Given the description of an element on the screen output the (x, y) to click on. 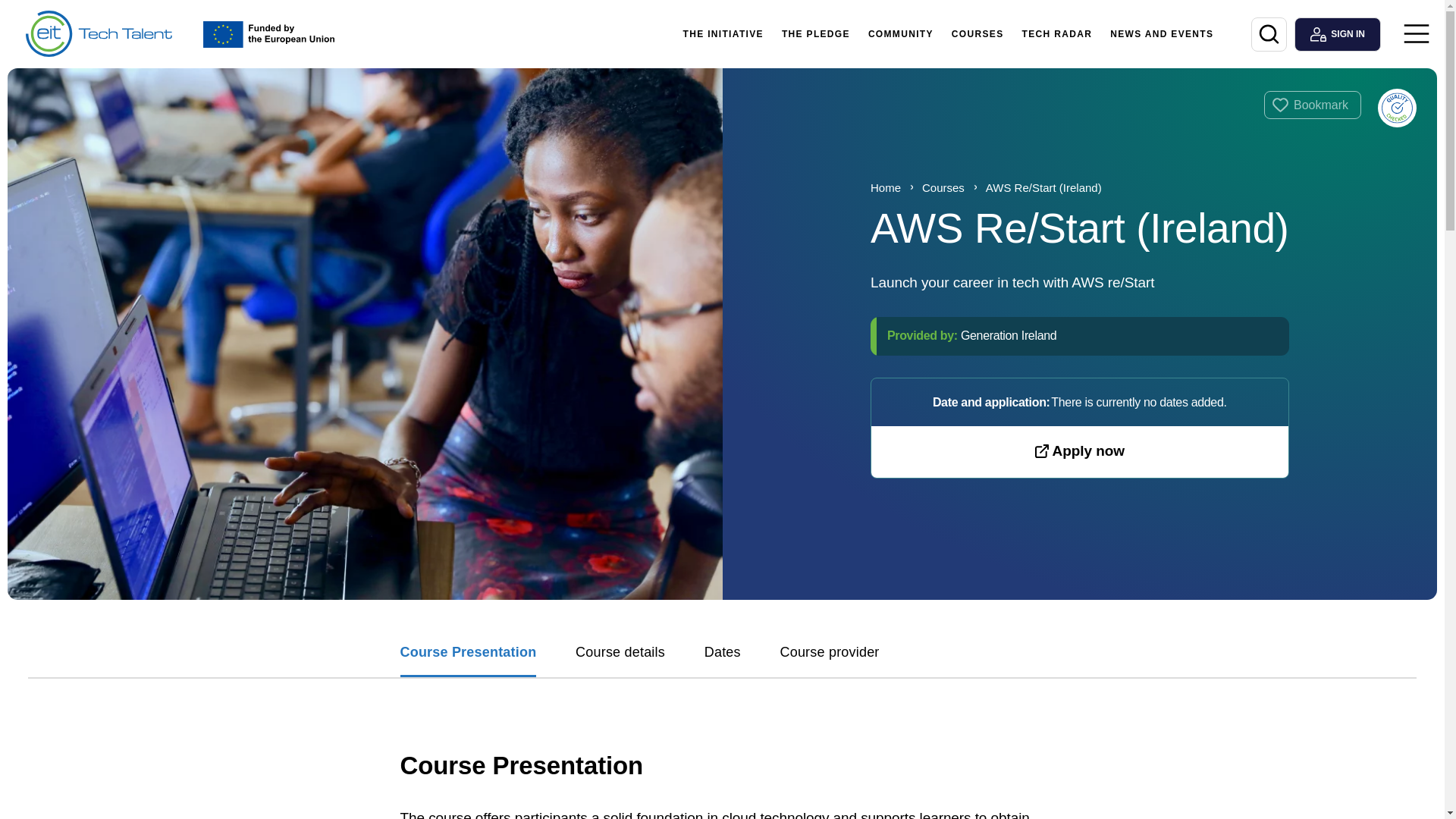
THE INITIATIVE (721, 33)
SIGN IN (1337, 34)
Open menu (1416, 33)
COURSES (977, 33)
NEWS AND EVENTS (1161, 33)
COMMUNITY (900, 33)
TECH RADAR (1057, 33)
Search (1268, 34)
THE PLEDGE (816, 33)
